Given the description of an element on the screen output the (x, y) to click on. 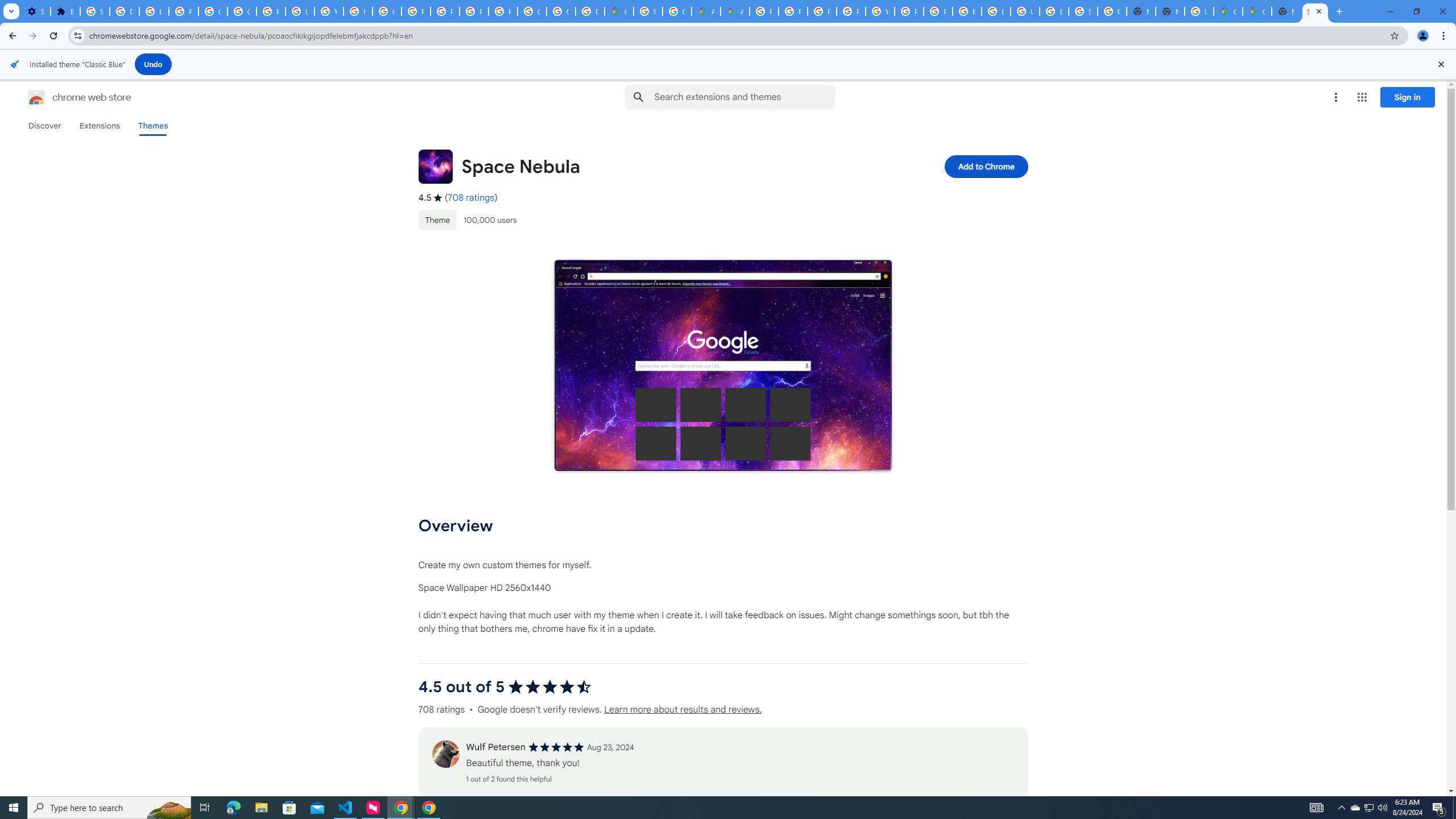
More options menu (1335, 96)
Google Account Help (212, 11)
Minimize (1390, 11)
Learn more about results and reviews. (682, 709)
Chrome Web Store logo (36, 97)
Address and search bar (735, 35)
Delete photos & videos - Computer - Google Photos Help (124, 11)
Create your Google Account (677, 11)
Privacy Help Center - Policies Help (415, 11)
Search tabs (10, 11)
Restore (1416, 11)
YouTube (879, 11)
